Given the description of an element on the screen output the (x, y) to click on. 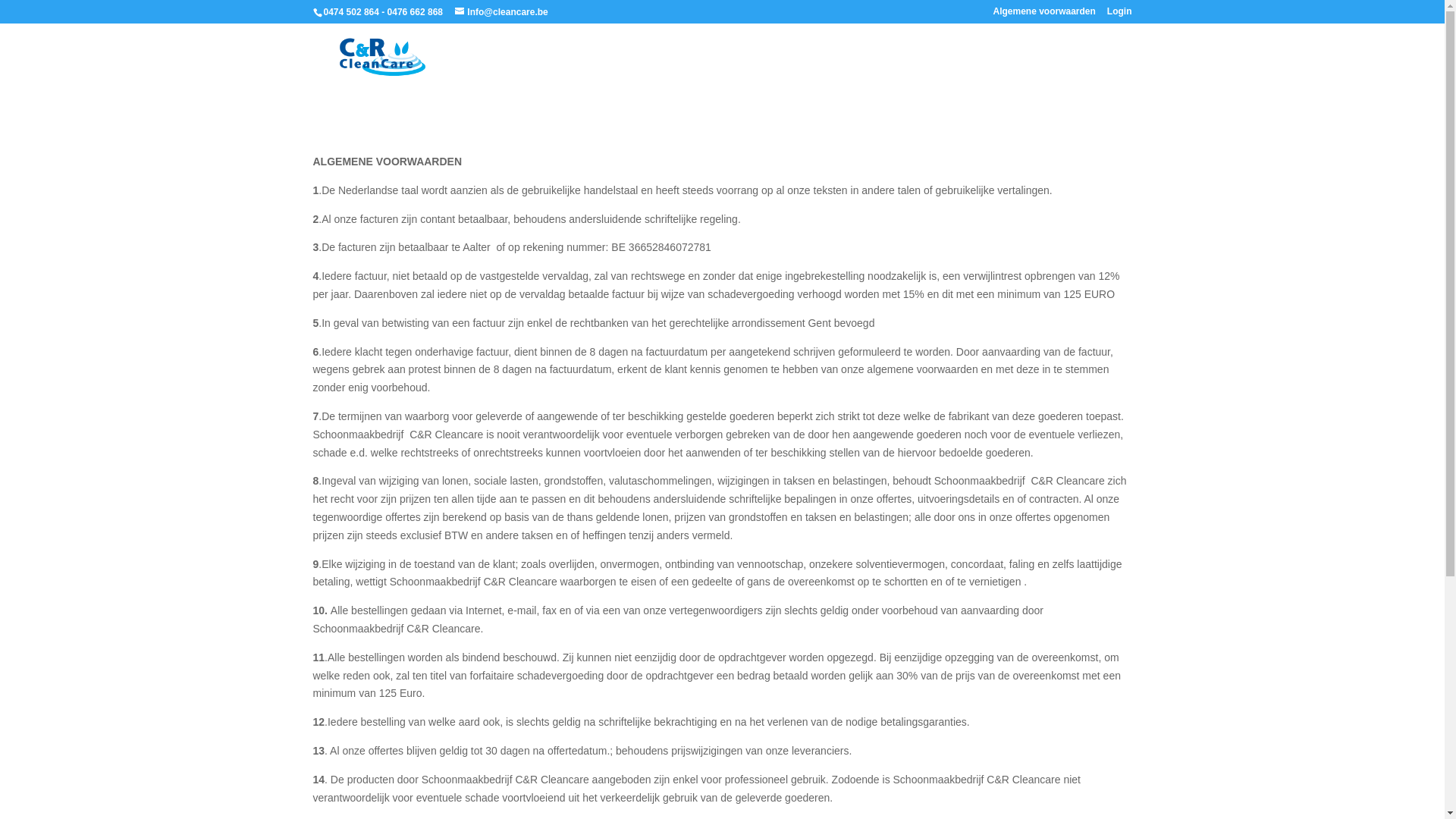
Info@cleancare.be Element type: text (501, 11)
Algemene voorwaarden Element type: text (1043, 14)
Login Element type: text (1119, 14)
